Given the description of an element on the screen output the (x, y) to click on. 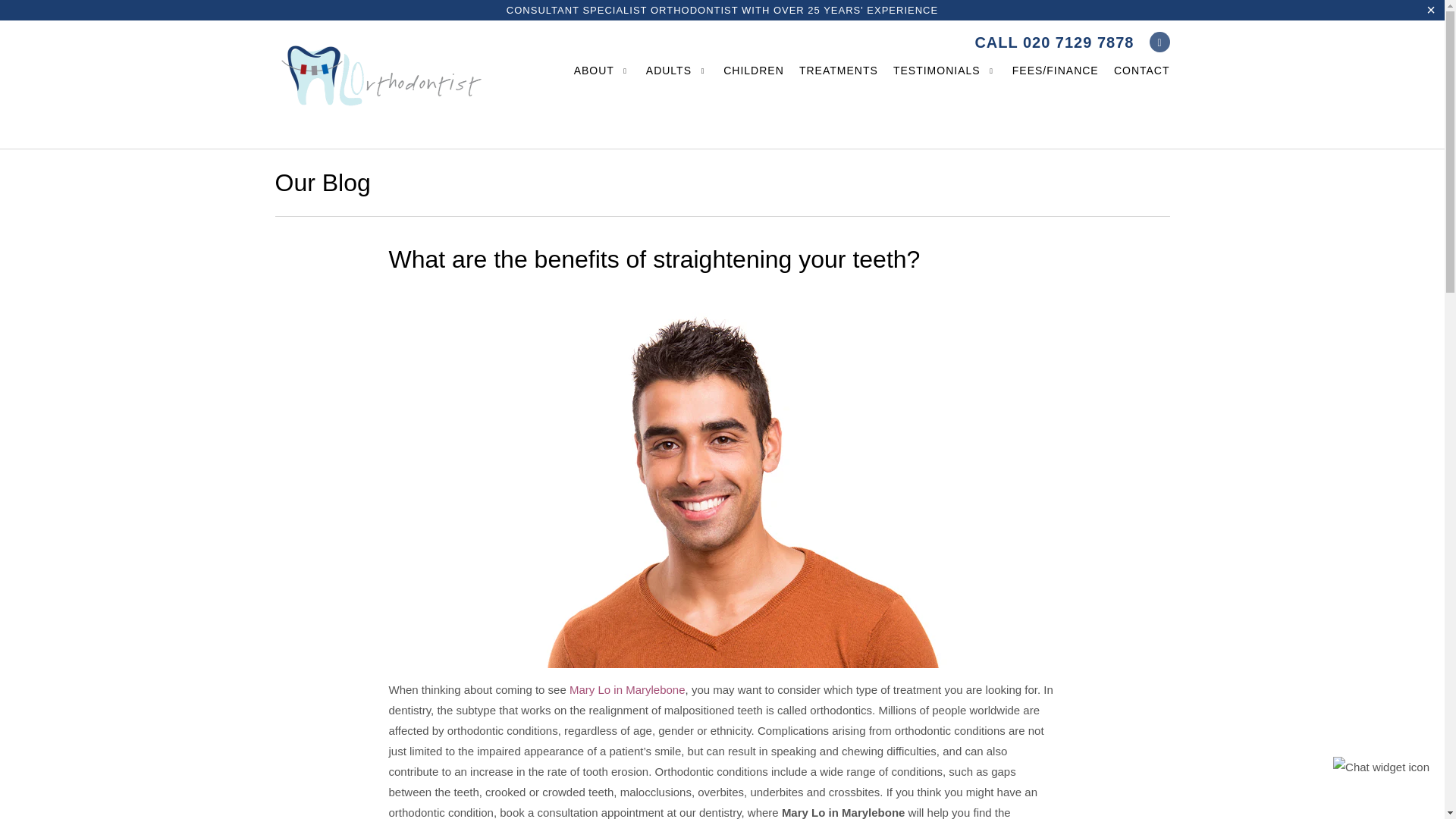
ABOUT (601, 74)
CONTACT (1141, 74)
TESTIMONIALS (945, 74)
Mary Lo (380, 84)
ADULTS (676, 74)
CALL 020 7129 7878 (1054, 42)
TREATMENTS (838, 74)
Our Blog (322, 182)
Our Blog (322, 182)
CHILDREN (753, 74)
